Given the description of an element on the screen output the (x, y) to click on. 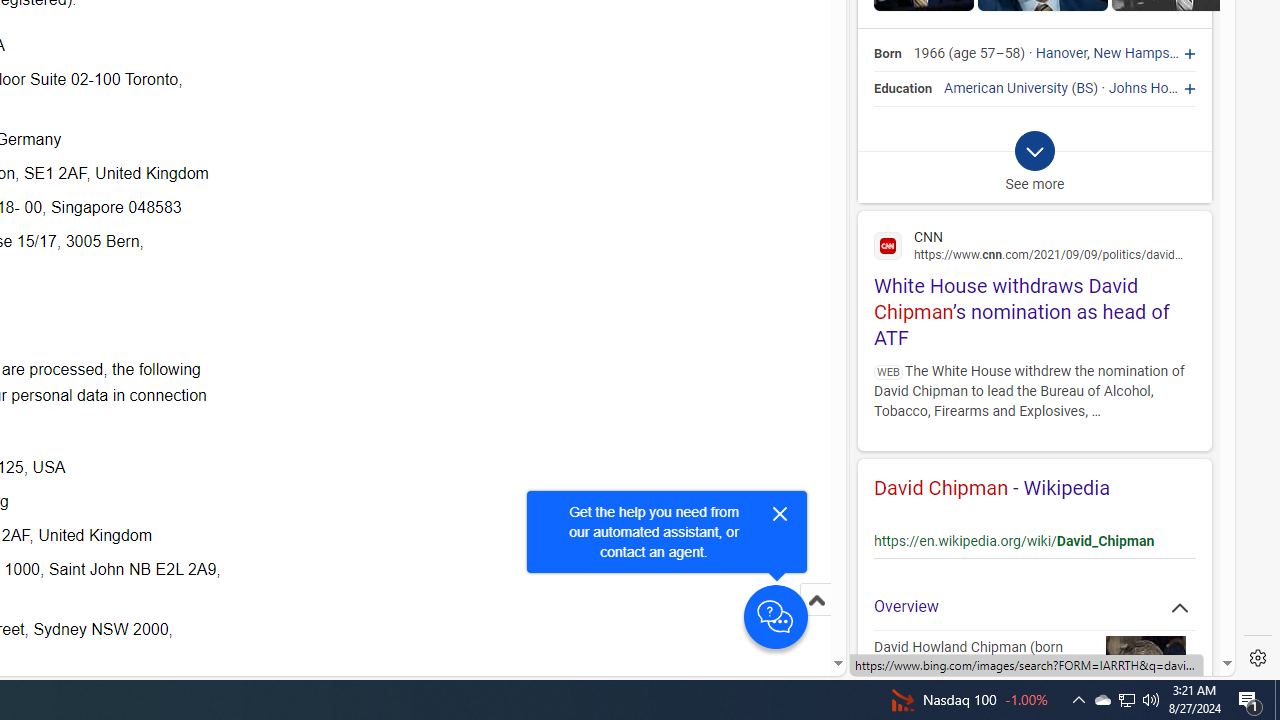
Education (903, 88)
Scroll to top (816, 599)
Scroll to top (816, 620)
American University (1005, 88)
Class: b_exp_chevron_svg b_expmob_chev (1034, 151)
Johns Hopkins University (1187, 88)
Hanover (1061, 53)
